Given the description of an element on the screen output the (x, y) to click on. 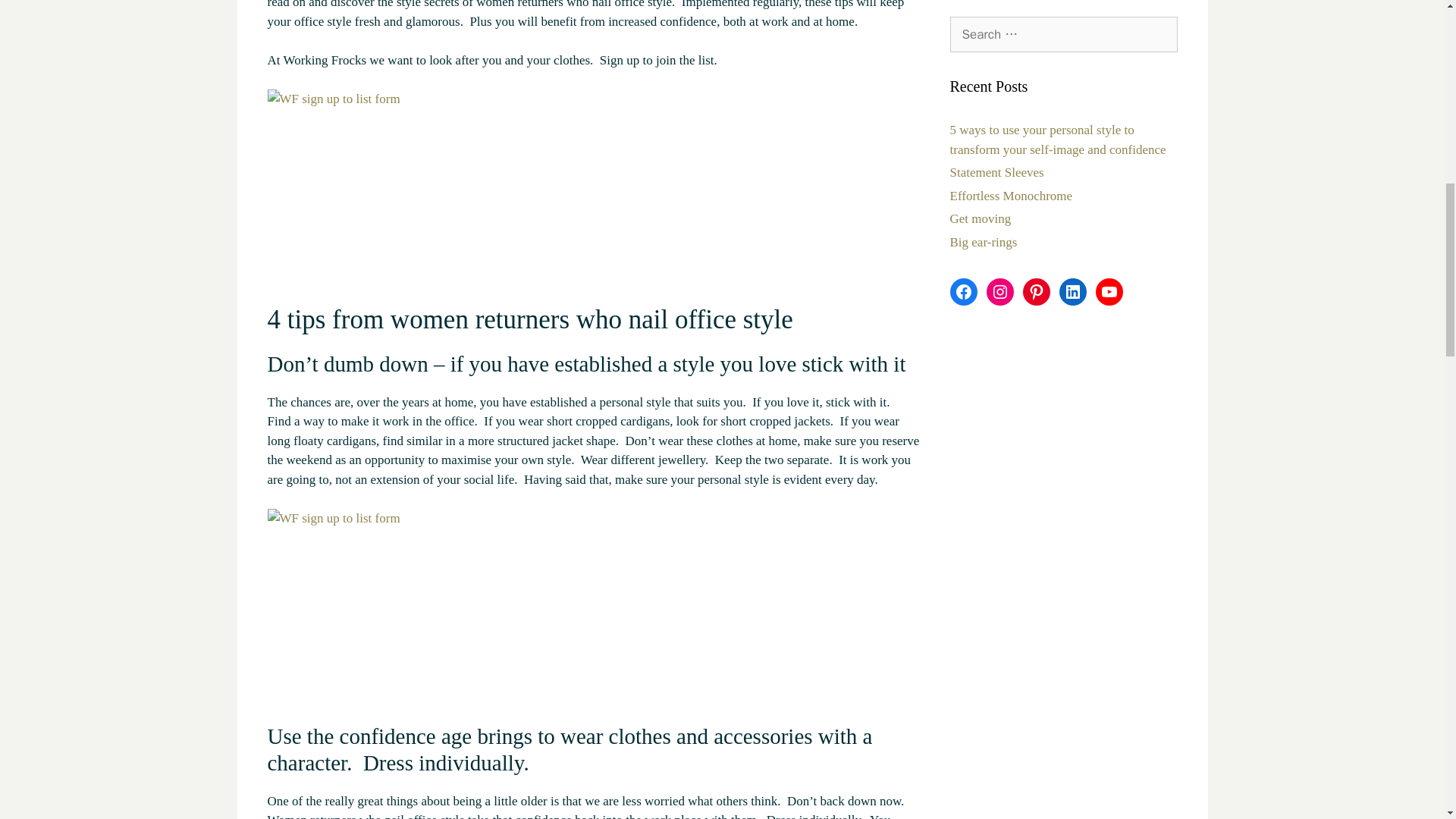
Scroll back to top (1406, 720)
Search for: (1062, 34)
